Given the description of an element on the screen output the (x, y) to click on. 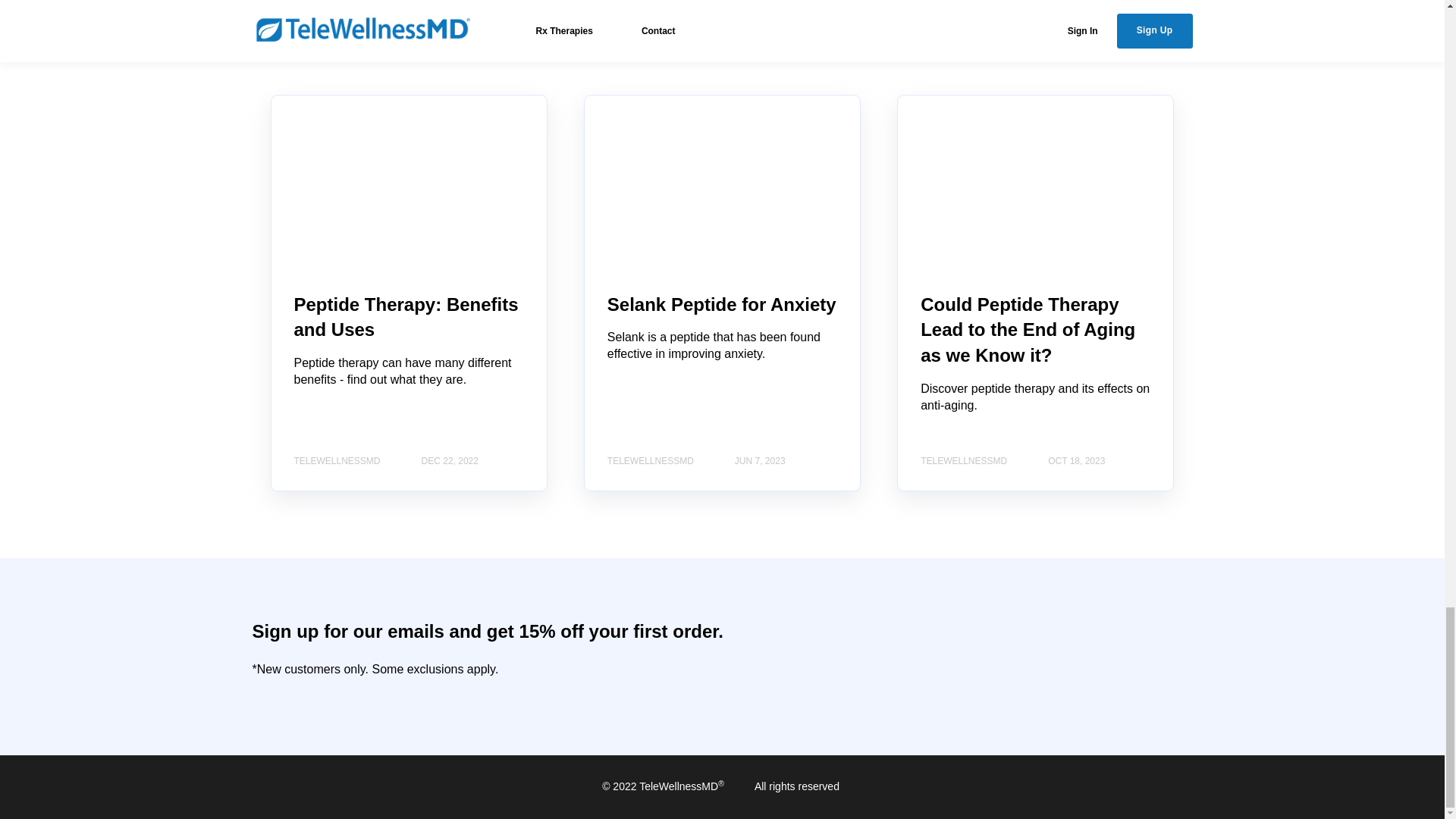
Selank Peptide for Anxiety (721, 304)
Peptide Therapy: Benefits and Uses (406, 317)
